Given the description of an element on the screen output the (x, y) to click on. 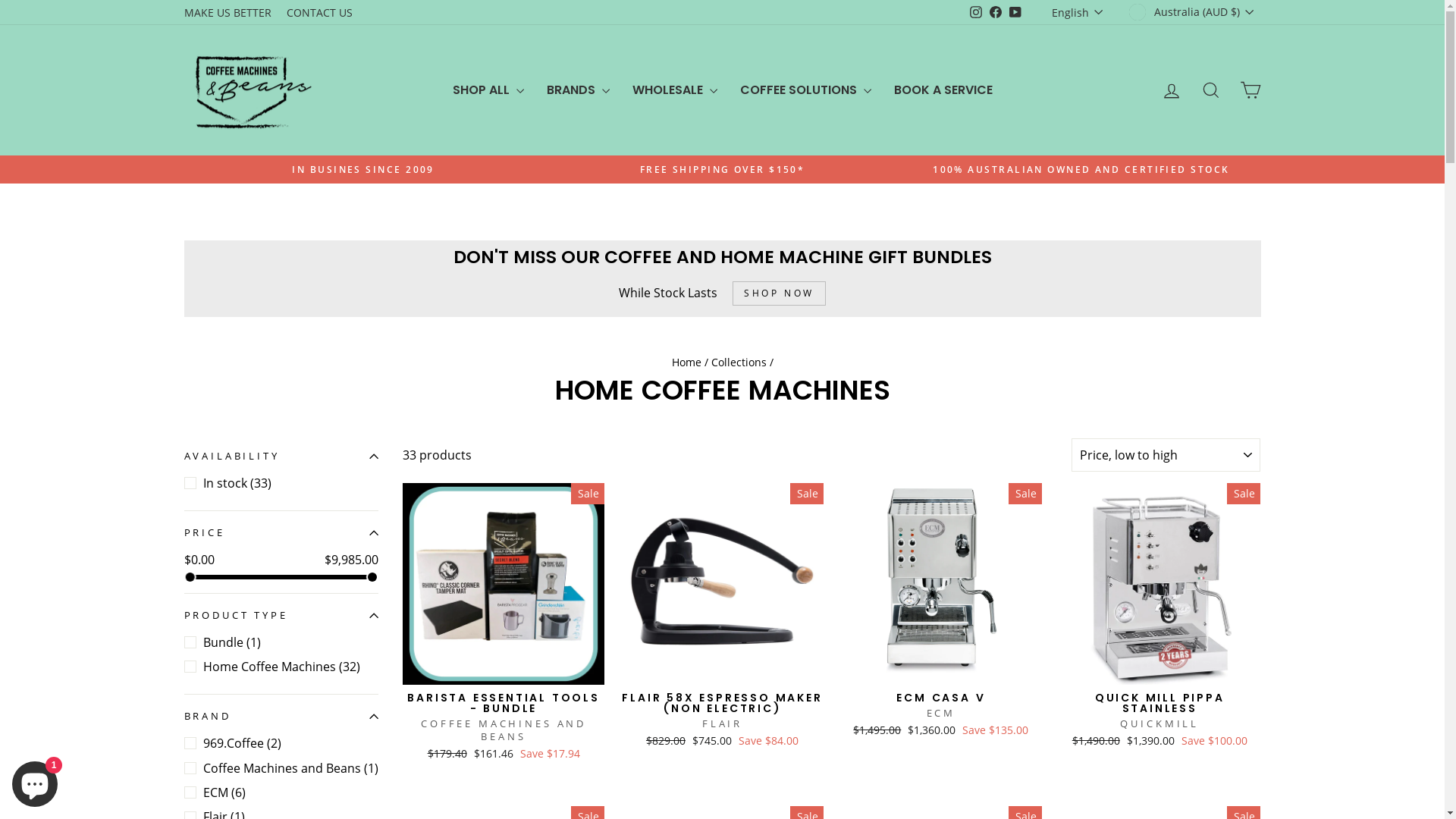
IN BUSINES SINCE 2009 Element type: text (363, 169)
FREE SHIPPING OVER $150* Element type: text (721, 169)
100% AUSTRALIAN OWNED AND CERTIFIED STOCK Element type: text (1080, 169)
Collections Element type: text (738, 361)
AVAILABILITY Element type: text (280, 456)
CART Element type: text (1249, 90)
YouTube Element type: text (1015, 12)
BRAND Element type: text (280, 716)
Shopify online store chat Element type: hover (34, 780)
Home Element type: text (686, 361)
MAKE US BETTER Element type: text (226, 12)
Australia (AUD $) Element type: text (1192, 12)
SEARCH Element type: text (1210, 90)
Facebook Element type: text (995, 12)
LOG IN Element type: text (1170, 90)
BOOK A SERVICE Element type: text (943, 90)
CONTACT US Element type: text (319, 12)
PRICE Element type: text (280, 532)
English Element type: text (1079, 12)
Instagram Element type: text (975, 12)
PRODUCT TYPE Element type: text (280, 615)
